Given the description of an element on the screen output the (x, y) to click on. 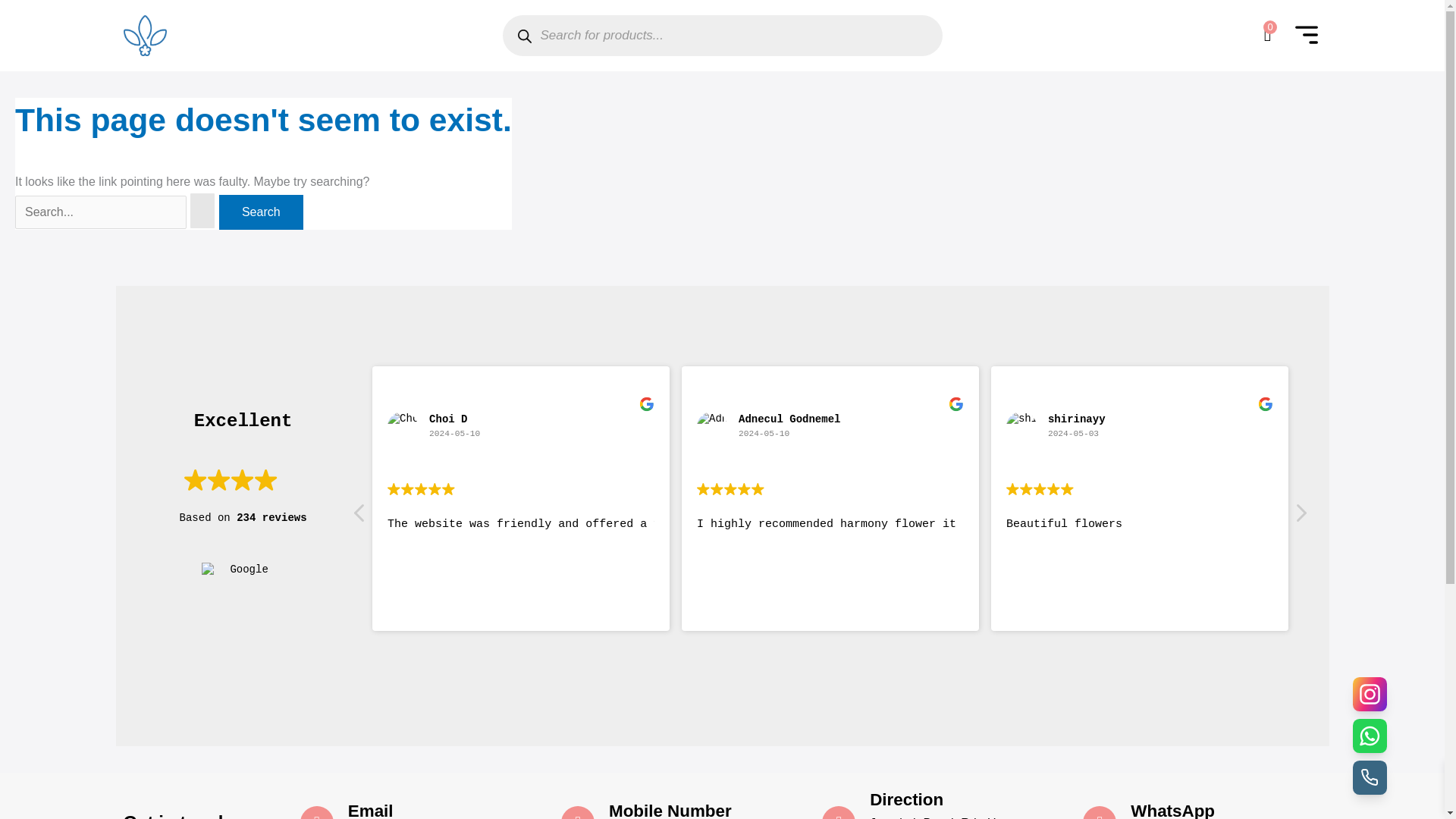
Direction (906, 799)
WhatsApp (1172, 810)
Search (260, 212)
Mobile Number (670, 810)
Email (370, 810)
Search (260, 212)
Search (260, 212)
